Given the description of an element on the screen output the (x, y) to click on. 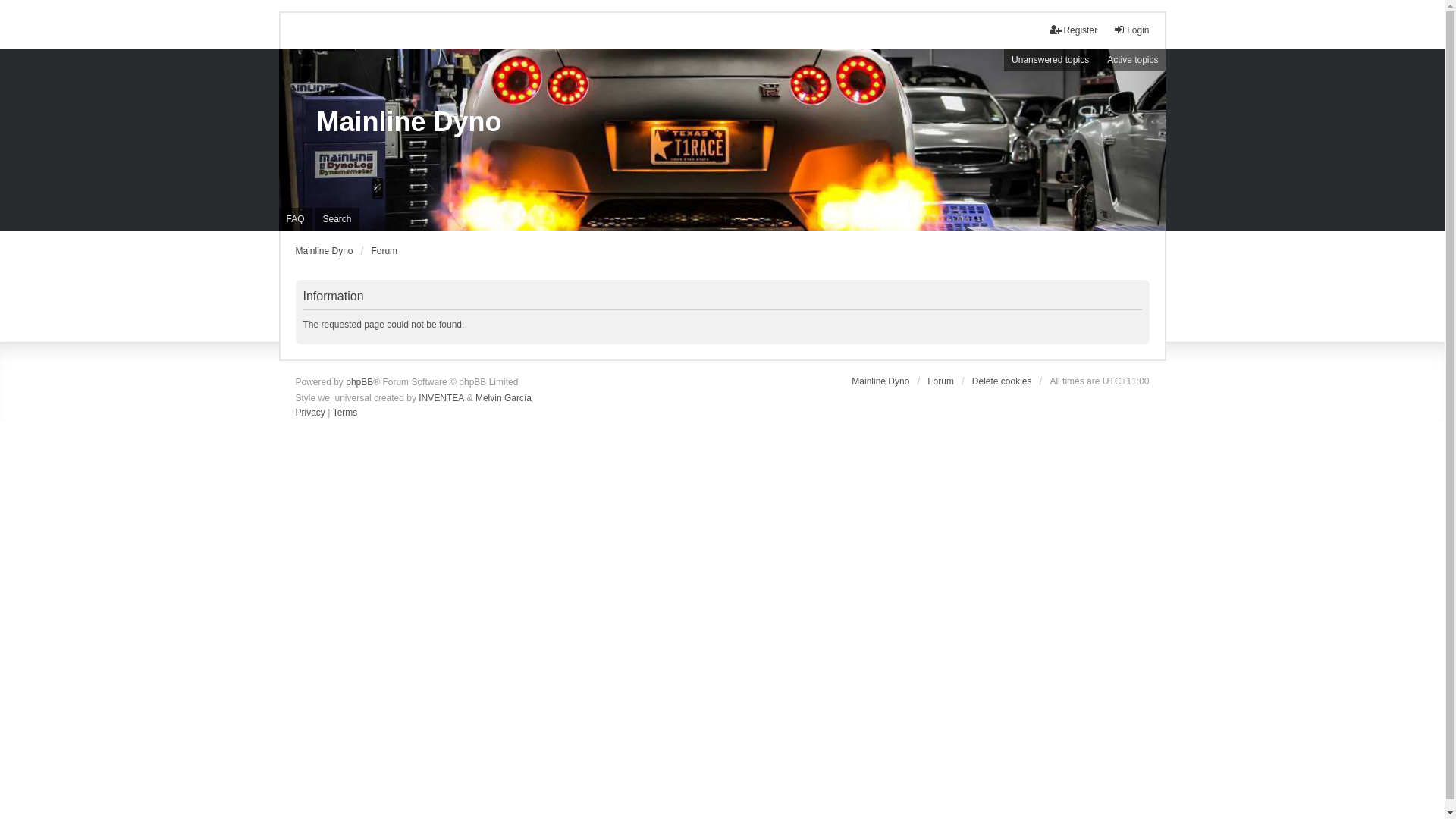
Login Element type: text (1130, 30)
Privacy Element type: text (310, 412)
Register Element type: text (1073, 30)
phpBB Element type: text (359, 382)
Delete cookies Element type: text (1002, 381)
Search Element type: text (337, 218)
Forum Element type: text (383, 250)
Terms Element type: text (344, 412)
Mainline Dyno Element type: text (409, 122)
INVENTEA Element type: text (441, 397)
Unanswered topics Element type: text (1050, 59)
Mainline Dyno Element type: text (880, 381)
Active topics Element type: text (1132, 59)
Forum Element type: text (940, 381)
FAQ Element type: text (295, 218)
Mainline Dyno Element type: text (324, 250)
